Given the description of an element on the screen output the (x, y) to click on. 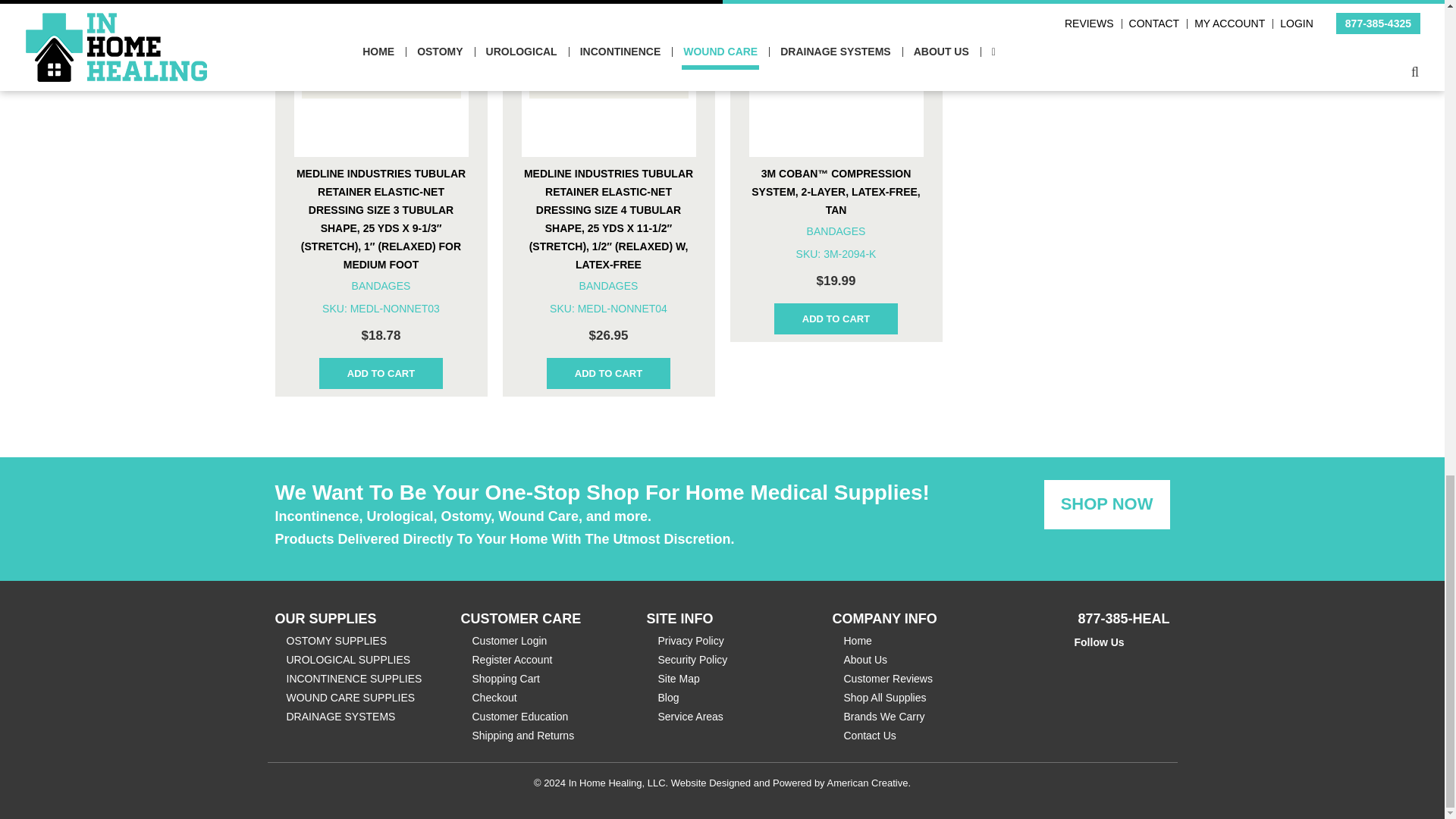
ADD TO CART (380, 373)
BANDAGES (381, 285)
BANDAGES (609, 285)
Youtube (1124, 660)
ADD TO CART (608, 373)
Twitter (1103, 660)
Linkdin (1145, 660)
Facebook (1082, 660)
